Given the description of an element on the screen output the (x, y) to click on. 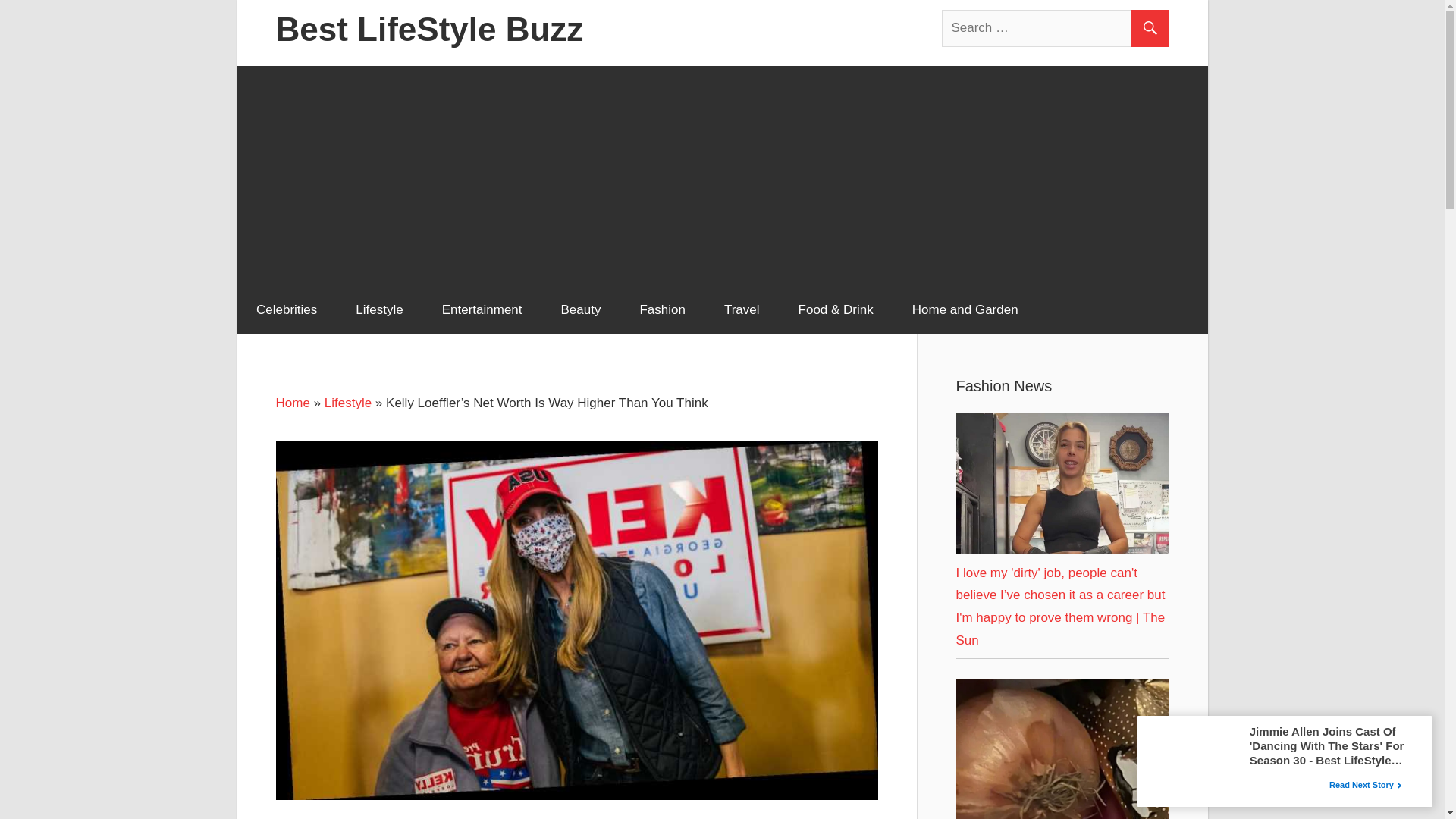
Search for: (1055, 27)
Fashion (662, 309)
Celebrities (285, 309)
Home and Garden (964, 309)
Lifestyle (379, 309)
Home (293, 402)
Entertainment (481, 309)
Travel (741, 309)
Beauty (580, 309)
Lifestyle (347, 402)
Best LifeStyle Buzz (429, 28)
